Given the description of an element on the screen output the (x, y) to click on. 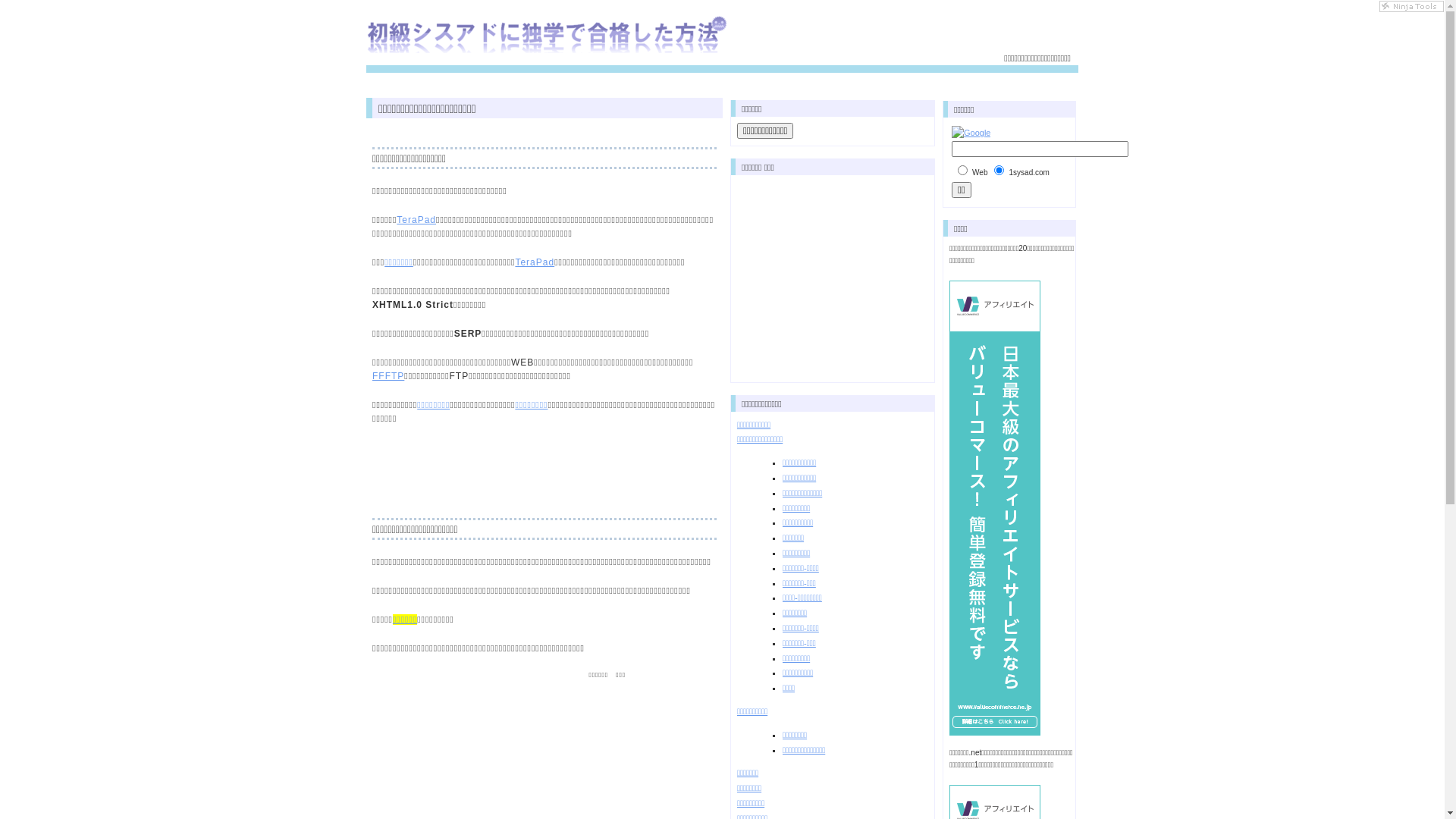
Advertisement Element type: hover (543, 463)
FFFTP Element type: text (388, 375)
TeraPad Element type: text (534, 262)
TeraPad Element type: text (416, 219)
Advertisement Element type: hover (831, 275)
